Given the description of an element on the screen output the (x, y) to click on. 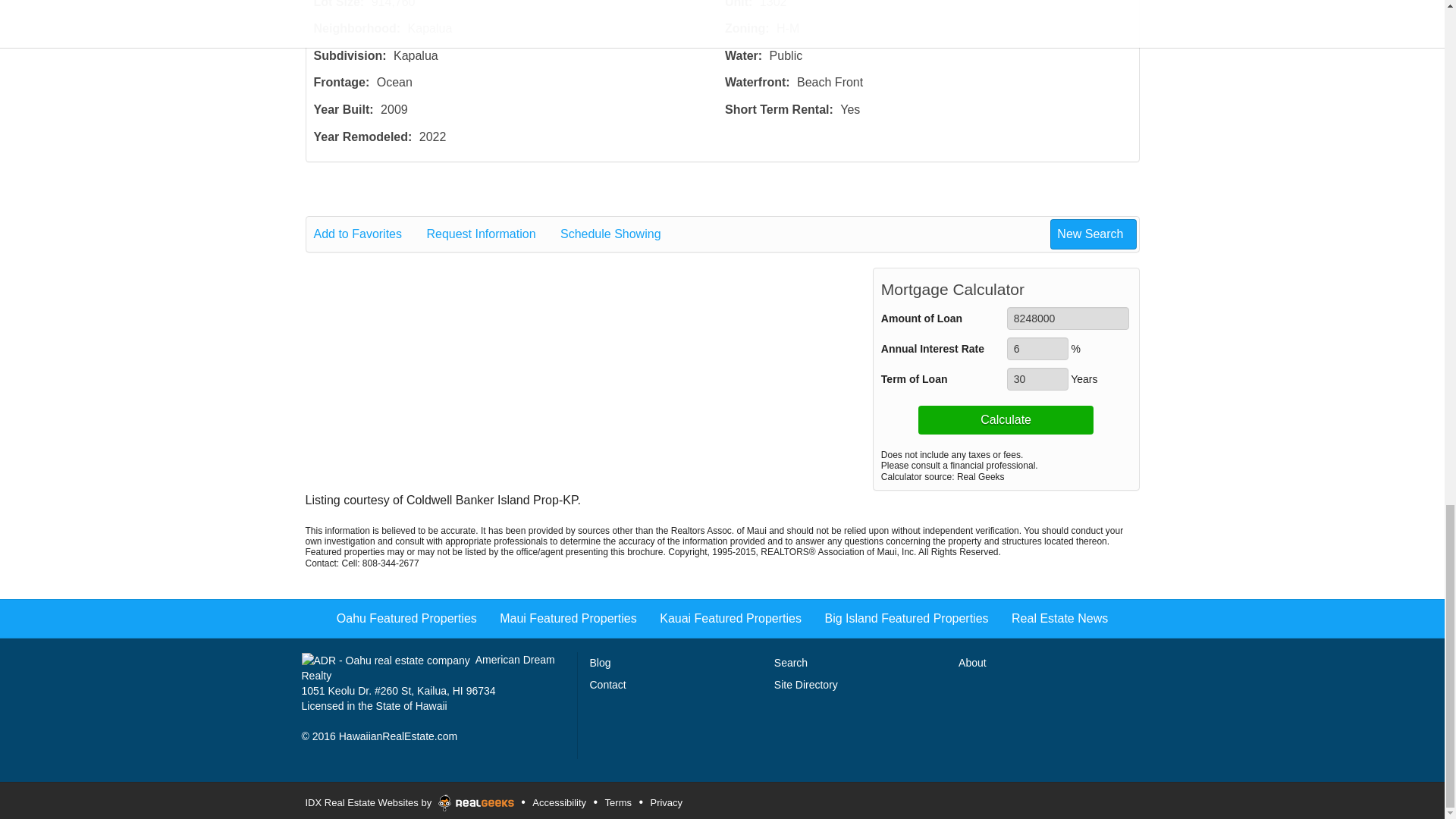
30 (1037, 378)
8248000 (1068, 318)
6 (1037, 348)
